Given the description of an element on the screen output the (x, y) to click on. 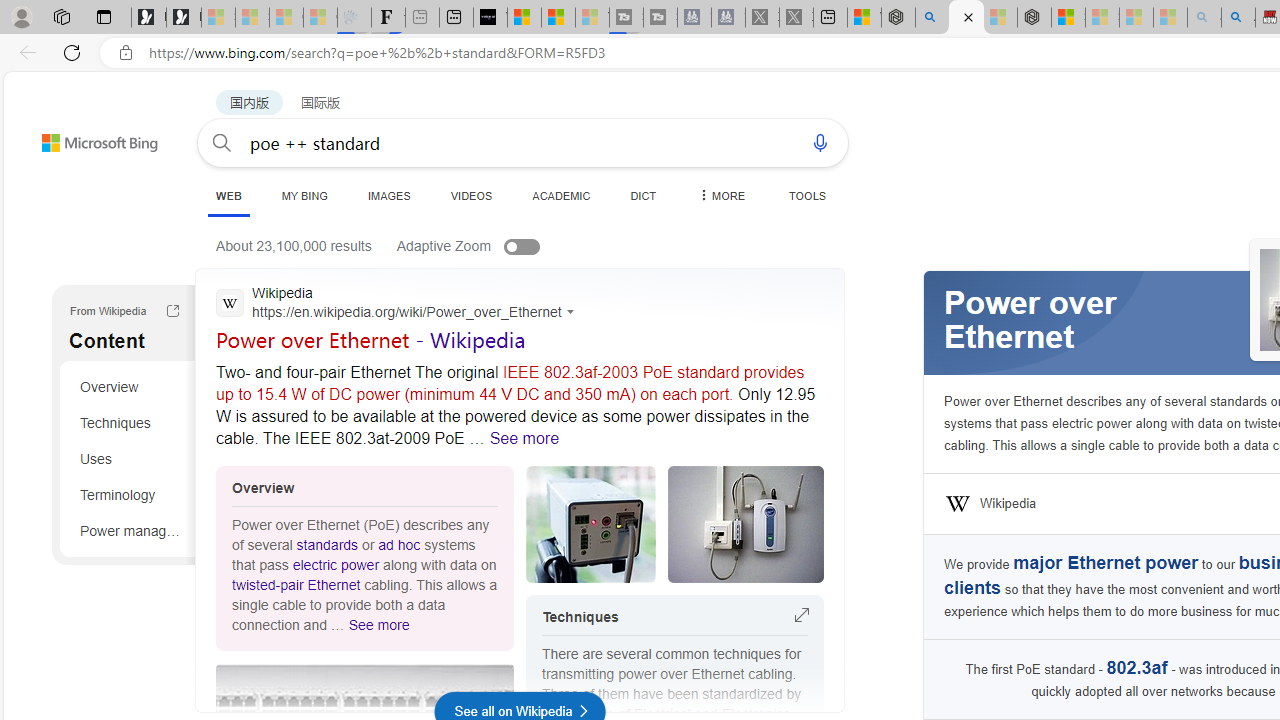
Terminology (130, 493)
MORE (720, 195)
WEB (228, 195)
ACADEMIC (561, 195)
From Wikipedia (172, 310)
ACADEMIC (561, 195)
MY BING (303, 195)
Newsletter Sign Up (183, 17)
Power management features and integration (130, 529)
ad hoc (399, 544)
poe ++ standard - Search (966, 17)
From Wikipedia (172, 313)
